Given the description of an element on the screen output the (x, y) to click on. 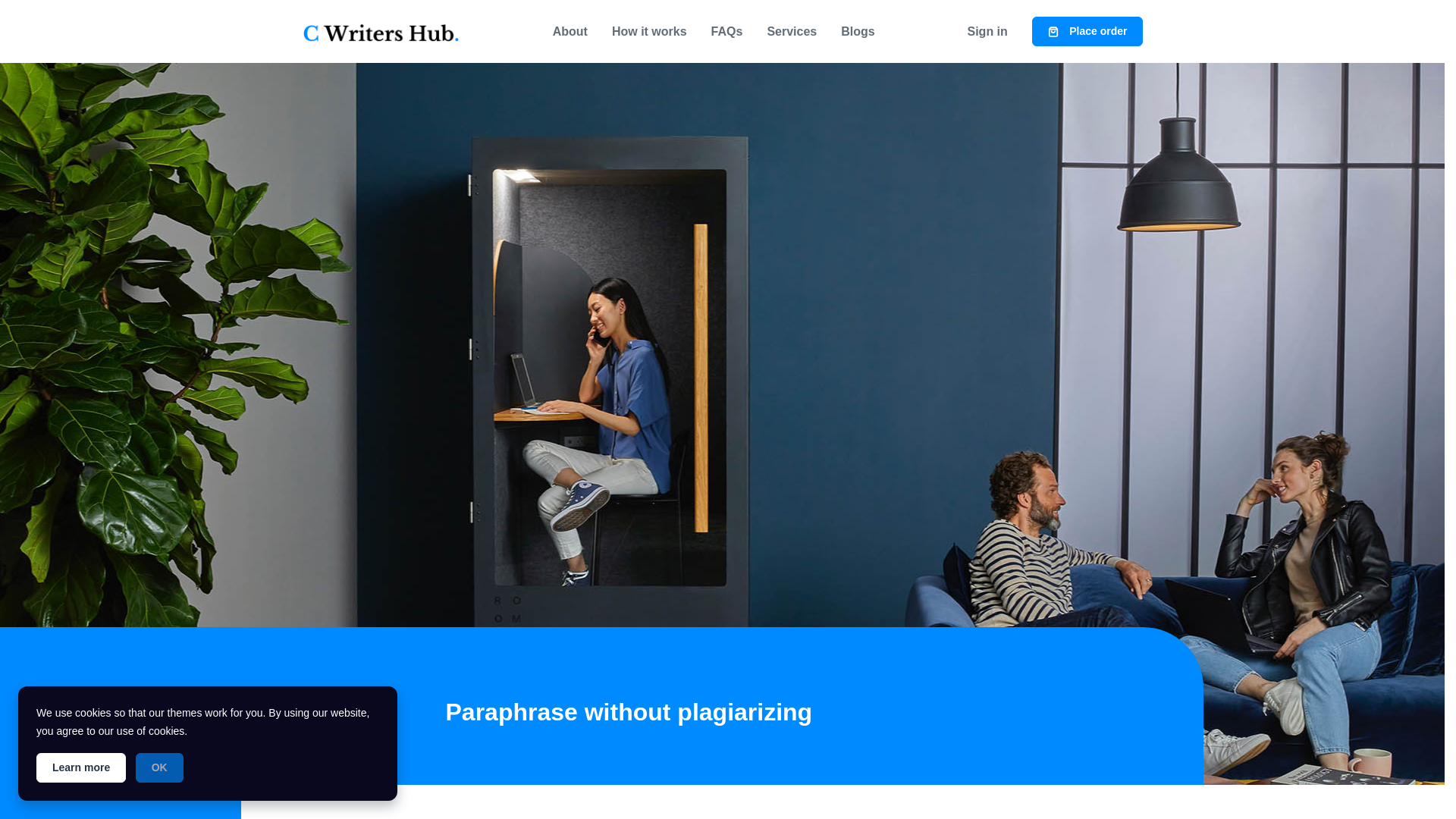
FAQs (726, 31)
Sign in (987, 31)
OK (159, 767)
Learn more (80, 767)
Place order (1087, 30)
Blogs (857, 31)
Services (791, 31)
About (569, 31)
How it works (648, 31)
